Given the description of an element on the screen output the (x, y) to click on. 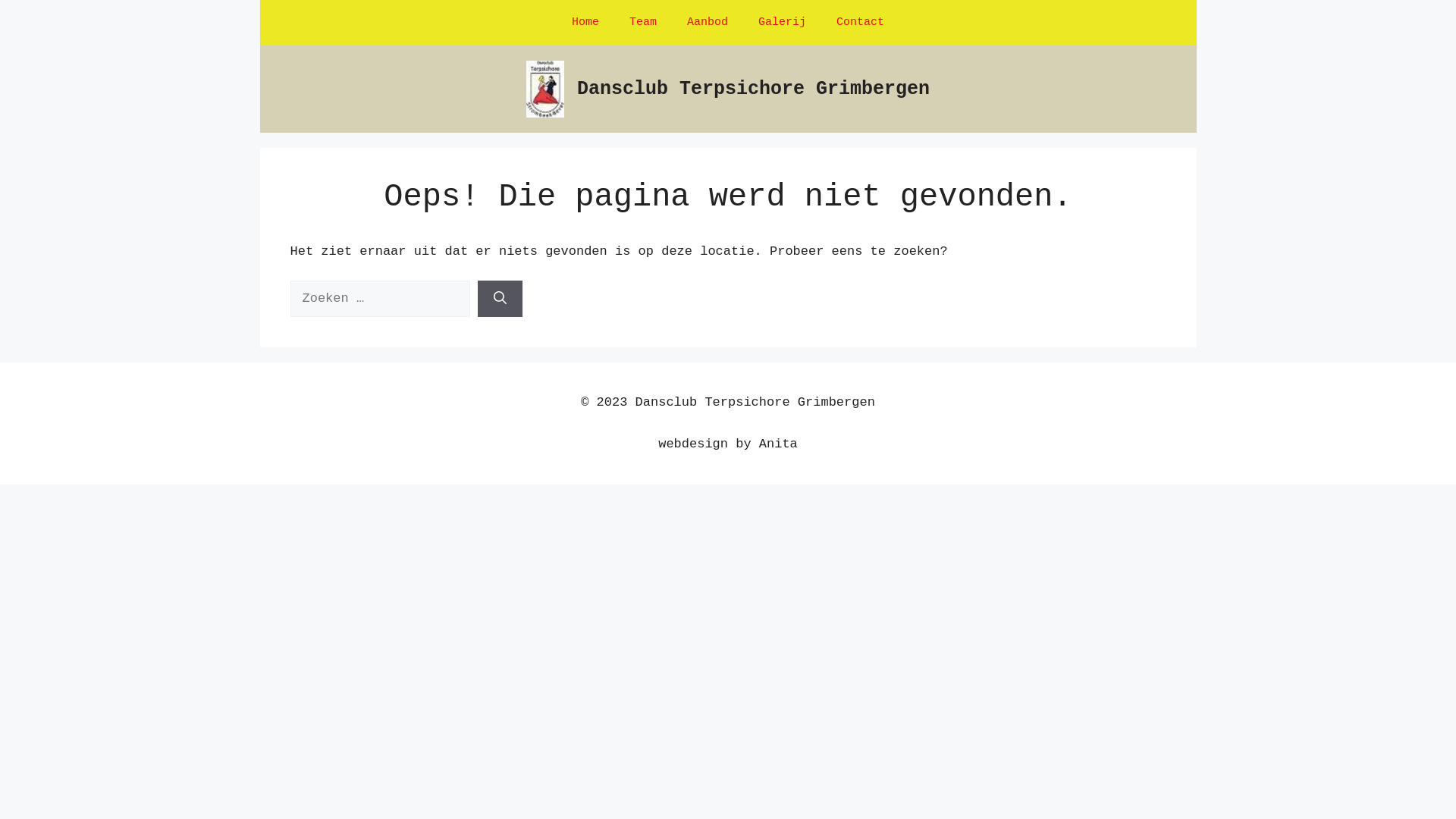
Team Element type: text (642, 22)
Galerij Element type: text (782, 22)
Aanbod Element type: text (707, 22)
Contact Element type: text (860, 22)
Zoeken naar: Element type: hover (379, 298)
Home Element type: text (585, 22)
Dansclub Terpsichore Grimbergen Element type: text (753, 88)
